Given the description of an element on the screen output the (x, y) to click on. 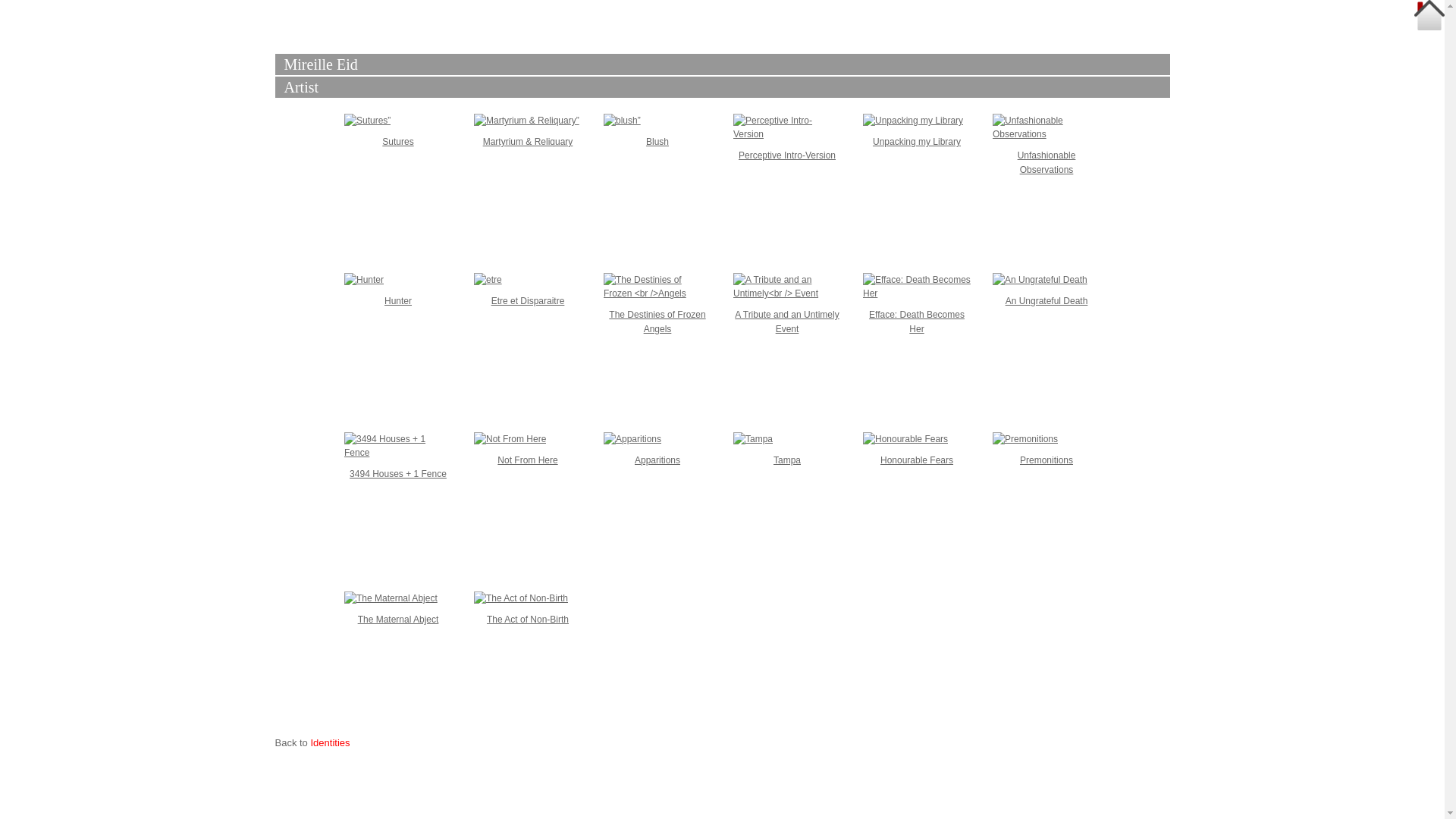
Unpacking my Library Element type: text (916, 141)
Mireille Eid
Artist Element type: text (722, 69)
Hunter Element type: text (397, 300)
Premonitions Element type: text (1046, 460)
Sutures Element type: text (397, 141)
Martyrium & Reliquary Element type: text (528, 141)
Efface: Death Becomes Her Element type: text (916, 321)
The Act of Non-Birth Element type: text (527, 619)
Perceptive Intro-Version Element type: text (786, 155)
3494 Houses + 1 Fence Element type: text (397, 473)
Blush Element type: text (657, 141)
A Tribute and an Untimely
Event Element type: text (786, 321)
The Maternal Abject Element type: text (398, 619)
The Destinies of Frozen
Angels Element type: text (656, 321)
Unfashionable Observations Element type: text (1046, 162)
An Ungrateful Death Element type: text (1046, 300)
Not From Here Element type: text (527, 460)
Etre et Disparaitre Element type: text (527, 300)
Apparitions Element type: text (657, 460)
Back to Identities Element type: text (311, 742)
Tampa Element type: text (786, 460)
Honourable Fears Element type: text (916, 460)
